Given the description of an element on the screen output the (x, y) to click on. 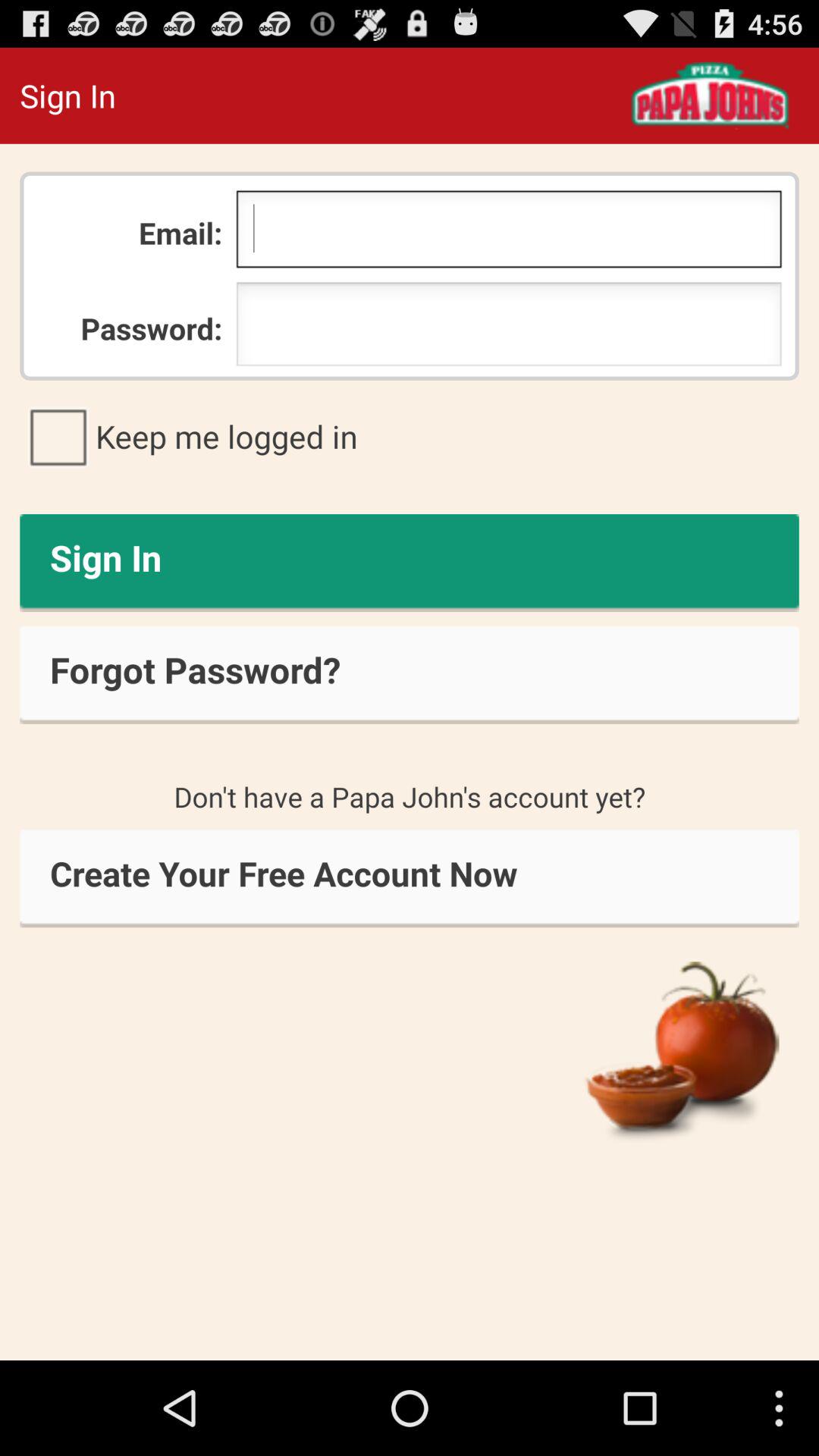
tap icon next to the email: app (508, 232)
